Given the description of an element on the screen output the (x, y) to click on. 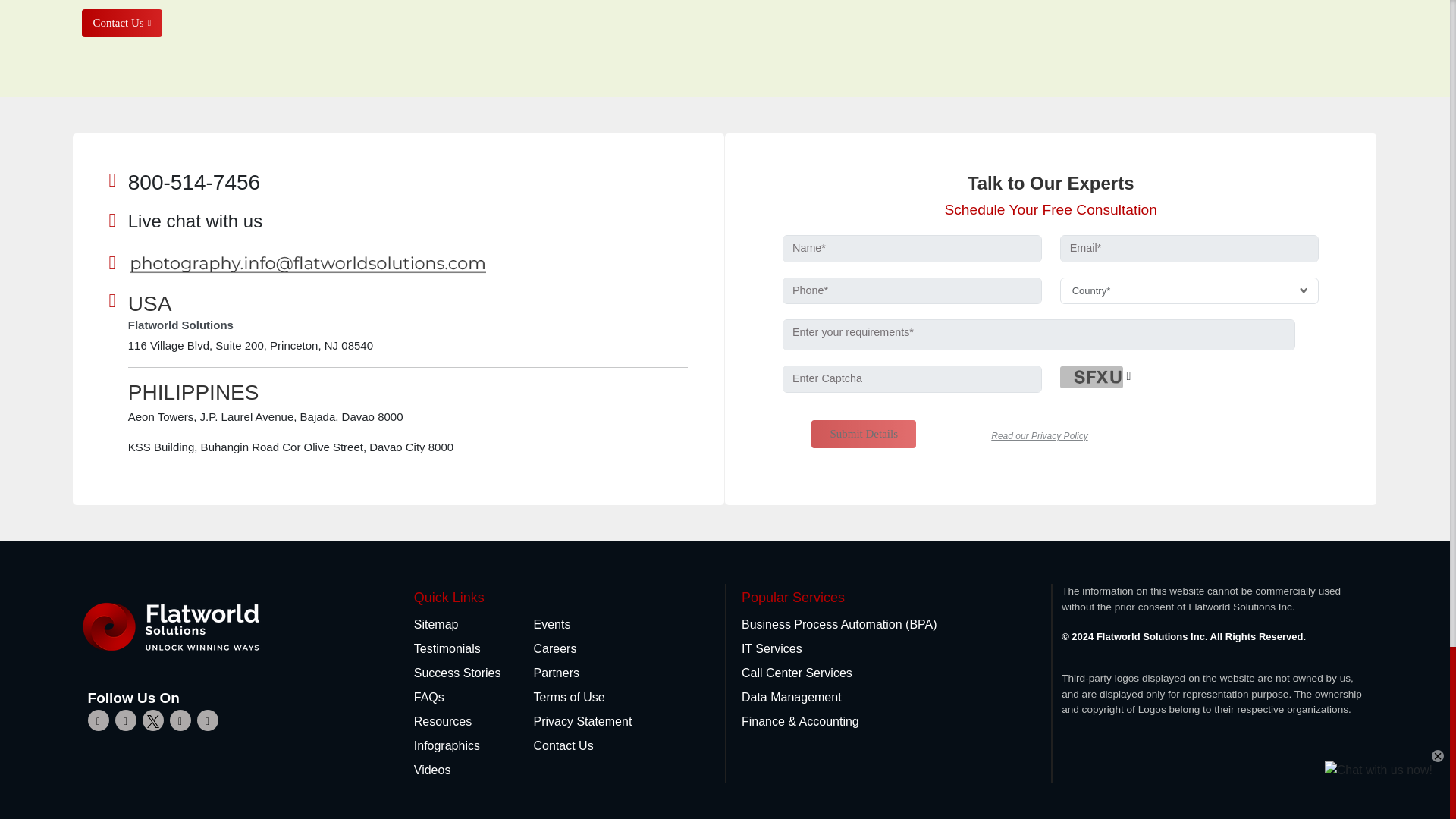
Submit Details (862, 434)
